Given the description of an element on the screen output the (x, y) to click on. 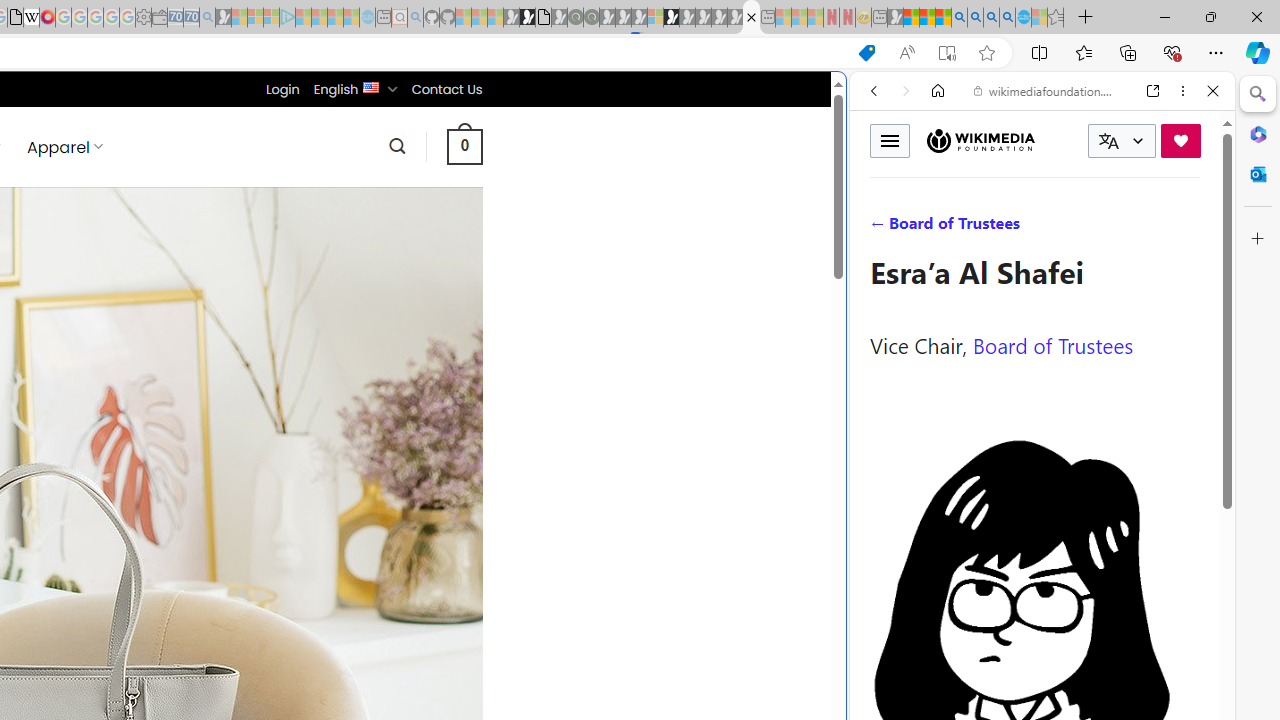
Login (281, 89)
Tabs you've opened (276, 265)
Sign in to your account - Sleeping (655, 17)
Play Zoo Boom in your browser | Games from Microsoft Start (527, 17)
WEB   (882, 228)
